Given the description of an element on the screen output the (x, y) to click on. 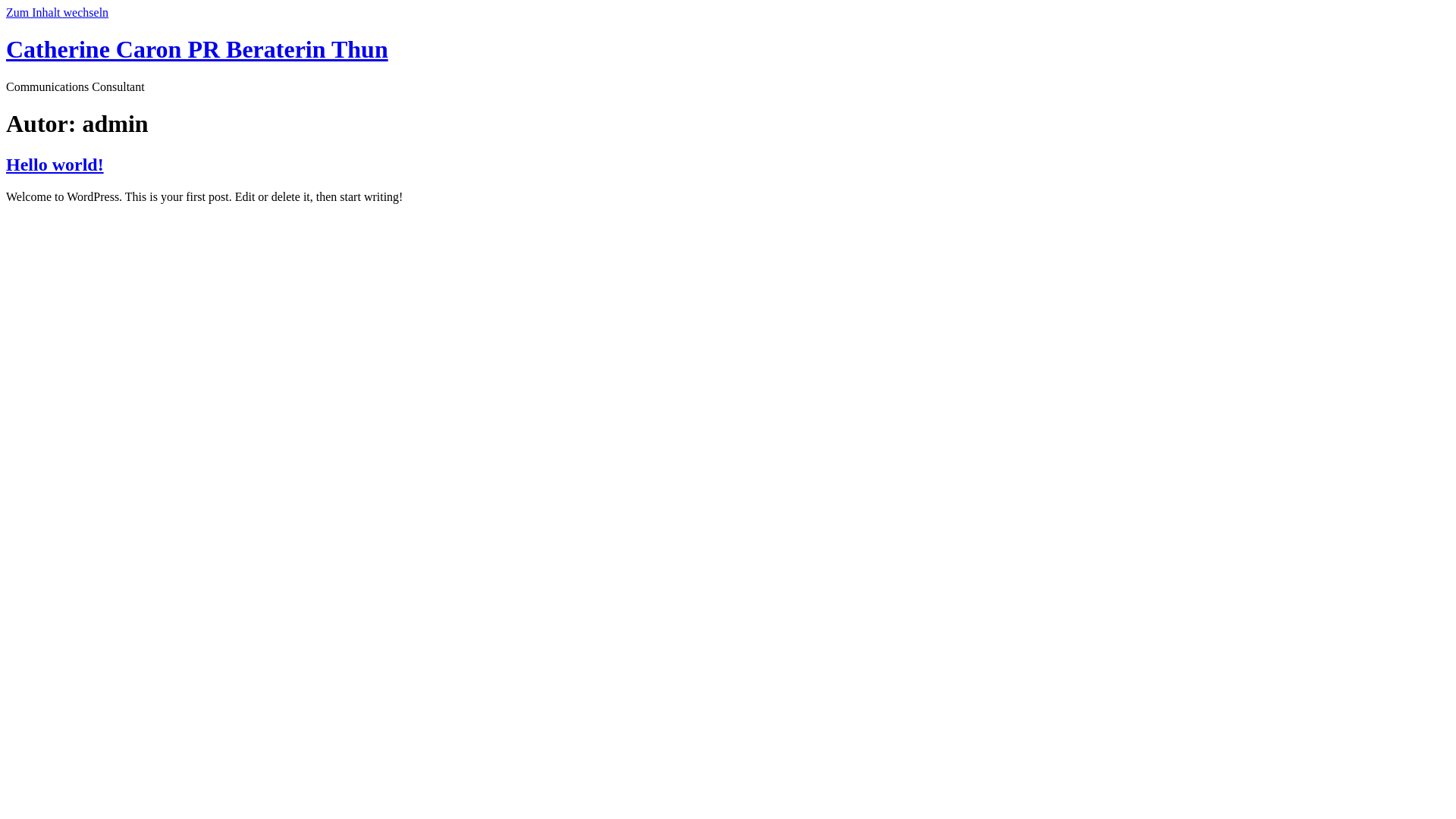
Hello world! Element type: text (54, 164)
Zum Inhalt wechseln Element type: text (57, 12)
Catherine Caron PR Beraterin Thun Element type: text (197, 48)
